Given the description of an element on the screen output the (x, y) to click on. 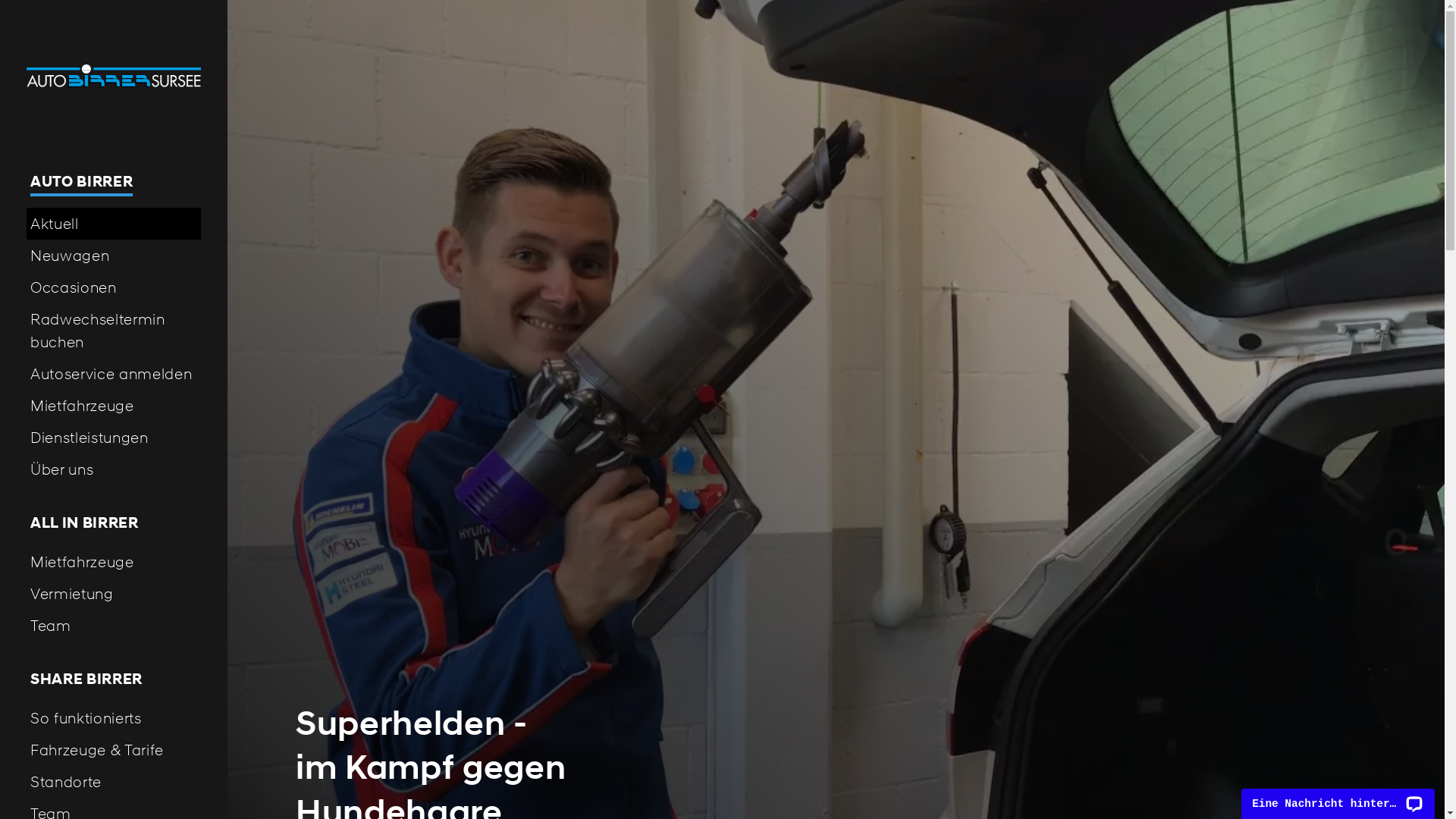
Dienstleistungen Element type: text (113, 437)
ALL IN BIRRER Element type: text (113, 523)
So funktionierts Element type: text (113, 718)
Occasionen Element type: text (113, 287)
Team Element type: text (113, 625)
Mietfahrzeuge Element type: text (113, 561)
Vermietung Element type: text (113, 593)
Neuwagen Element type: text (113, 255)
AUTO BIRRER Element type: text (113, 183)
Autoservice anmelden Element type: text (113, 373)
Standorte Element type: text (113, 781)
Fahrzeuge & Tarife Element type: text (113, 749)
Mietfahrzeuge Element type: text (113, 405)
Aktuell Element type: text (113, 223)
Radwechseltermin buchen Element type: text (113, 330)
SHARE BIRRER Element type: text (113, 679)
